Given the description of an element on the screen output the (x, y) to click on. 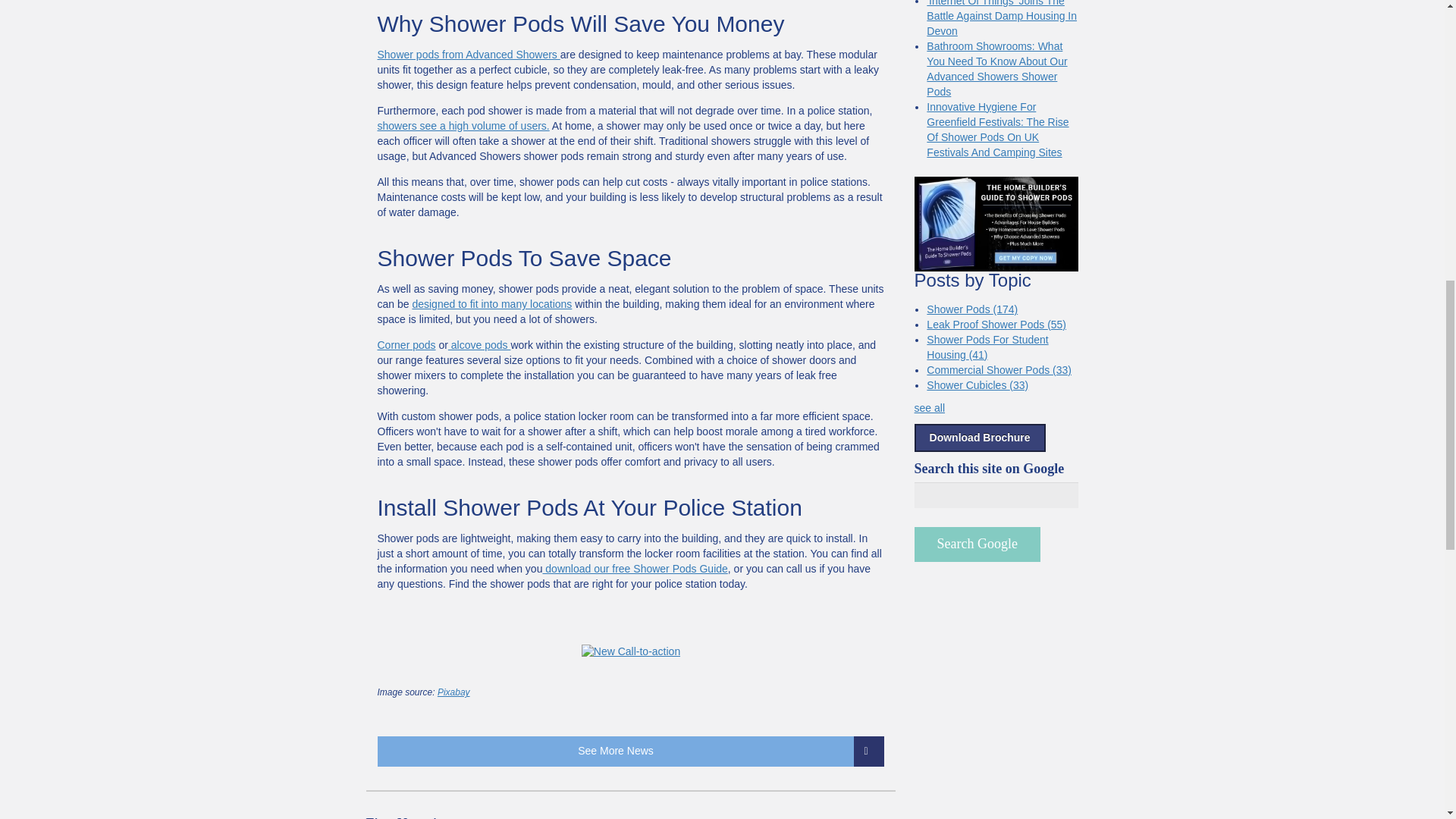
alcove pods (479, 345)
download our free Shower Pods Guide (633, 568)
Corner pods (406, 345)
showers see a high volume of users. (463, 125)
designed to fit into many locations (492, 304)
Download Brochure (979, 438)
See More News (631, 751)
Shower pods from Advanced Showers (468, 54)
Pixabay (454, 692)
